Given the description of an element on the screen output the (x, y) to click on. 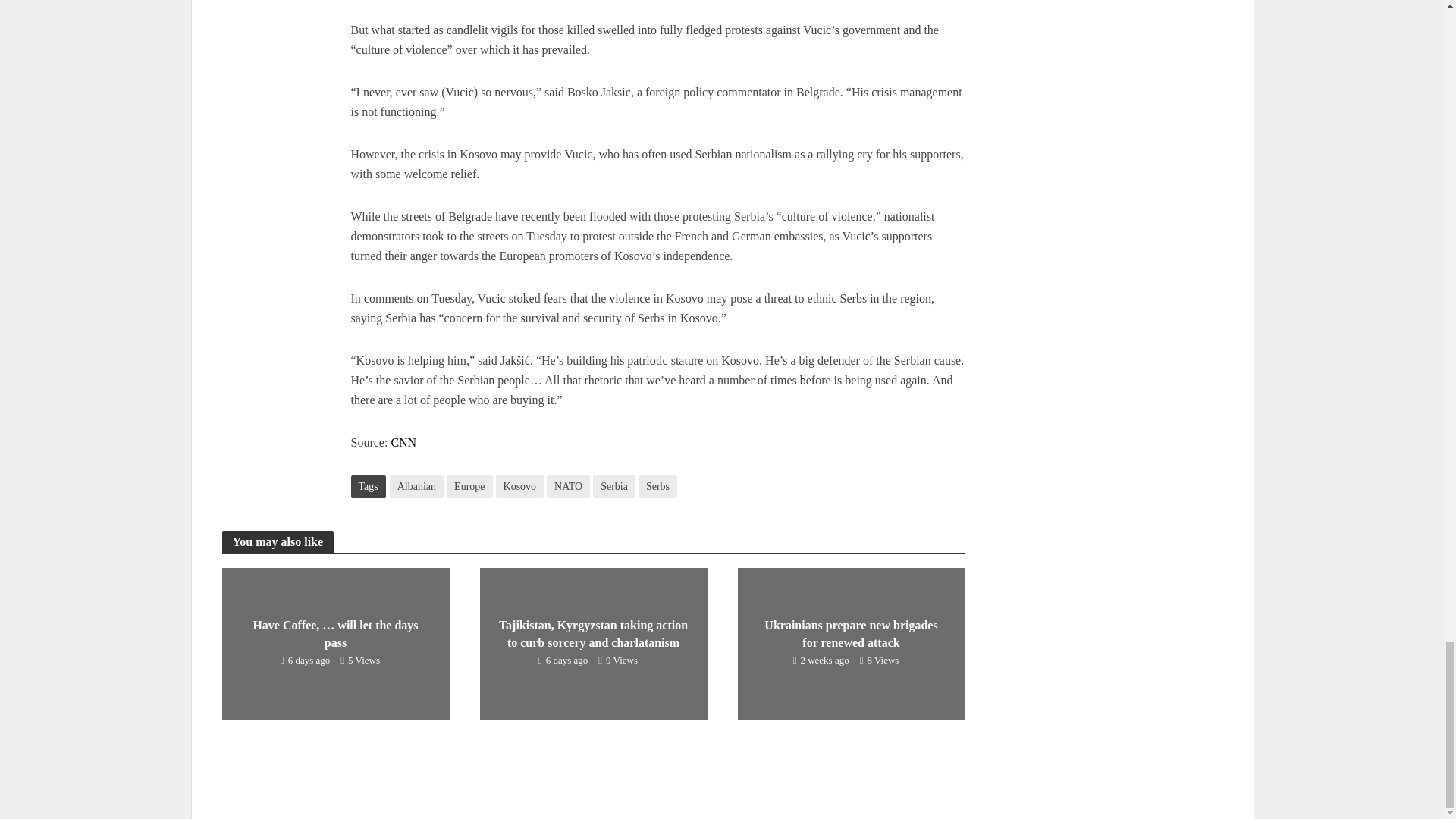
Ukrainians prepare new brigades for renewed attack (849, 642)
